Given the description of an element on the screen output the (x, y) to click on. 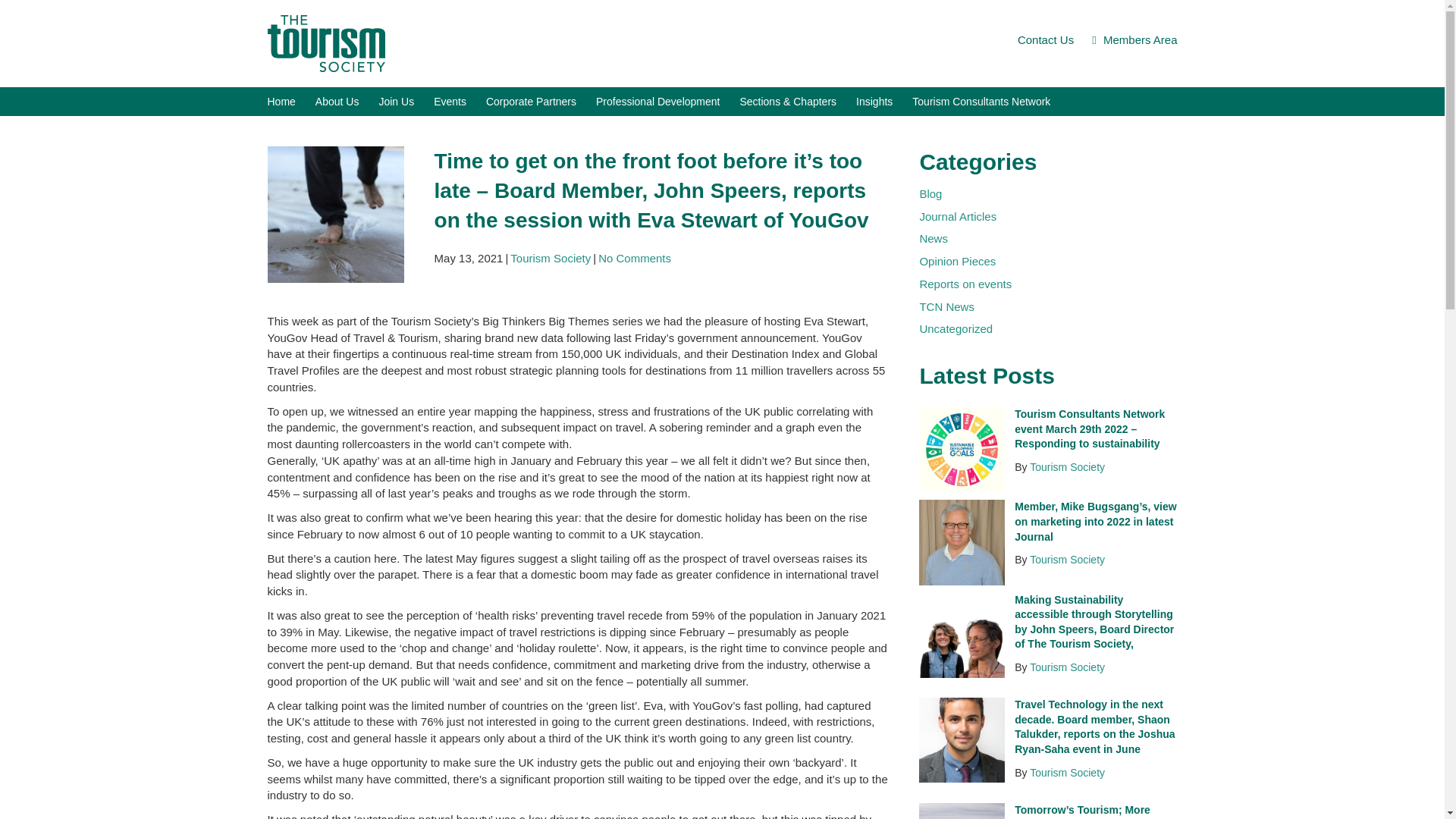
Tourism Consultants Network (990, 101)
Join Us (405, 101)
Insights (883, 101)
the-tourism-society-logo (325, 43)
Corporate Partners (540, 101)
Blog (930, 193)
Professional Development (666, 101)
Home (290, 101)
Contact Us (1053, 39)
Feet on sand from John Speers 13 May 2021 (334, 214)
Members Area (1140, 39)
No Comments (634, 257)
Events (458, 101)
